Given the description of an element on the screen output the (x, y) to click on. 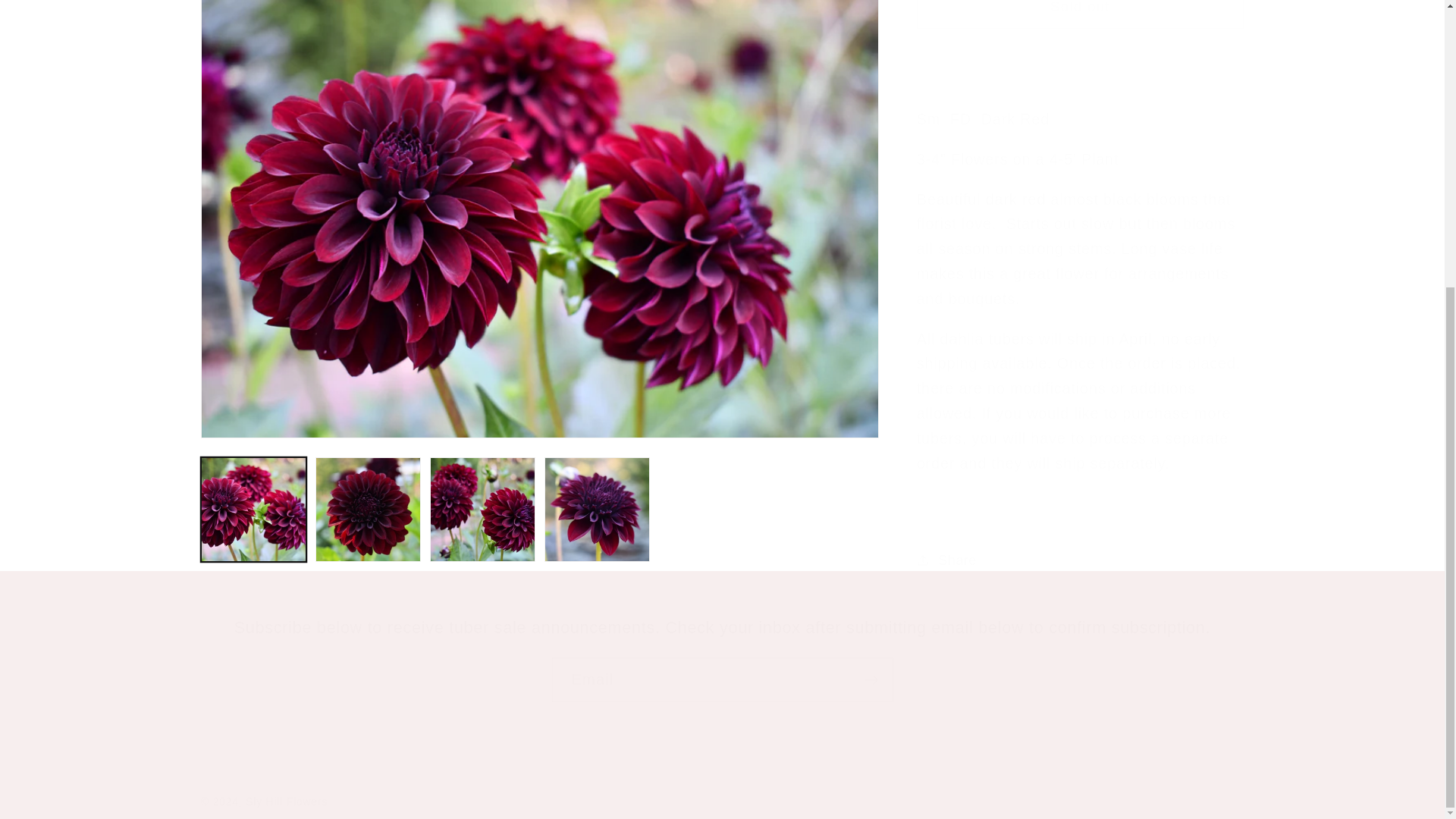
Open media 1 in modal (539, 89)
Sold out (1080, 7)
